Given the description of an element on the screen output the (x, y) to click on. 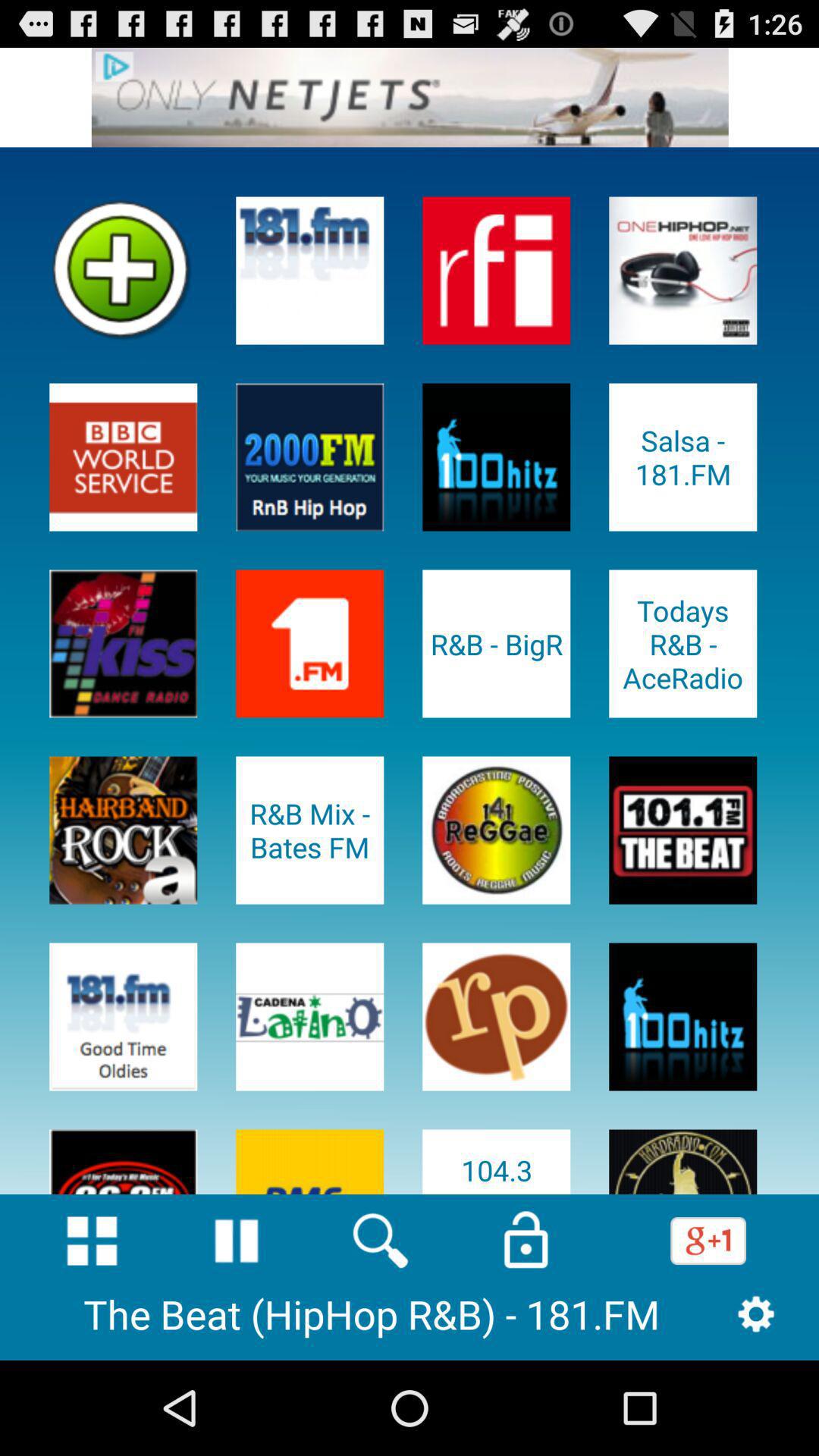
go to settings button (756, 1313)
